Given the description of an element on the screen output the (x, y) to click on. 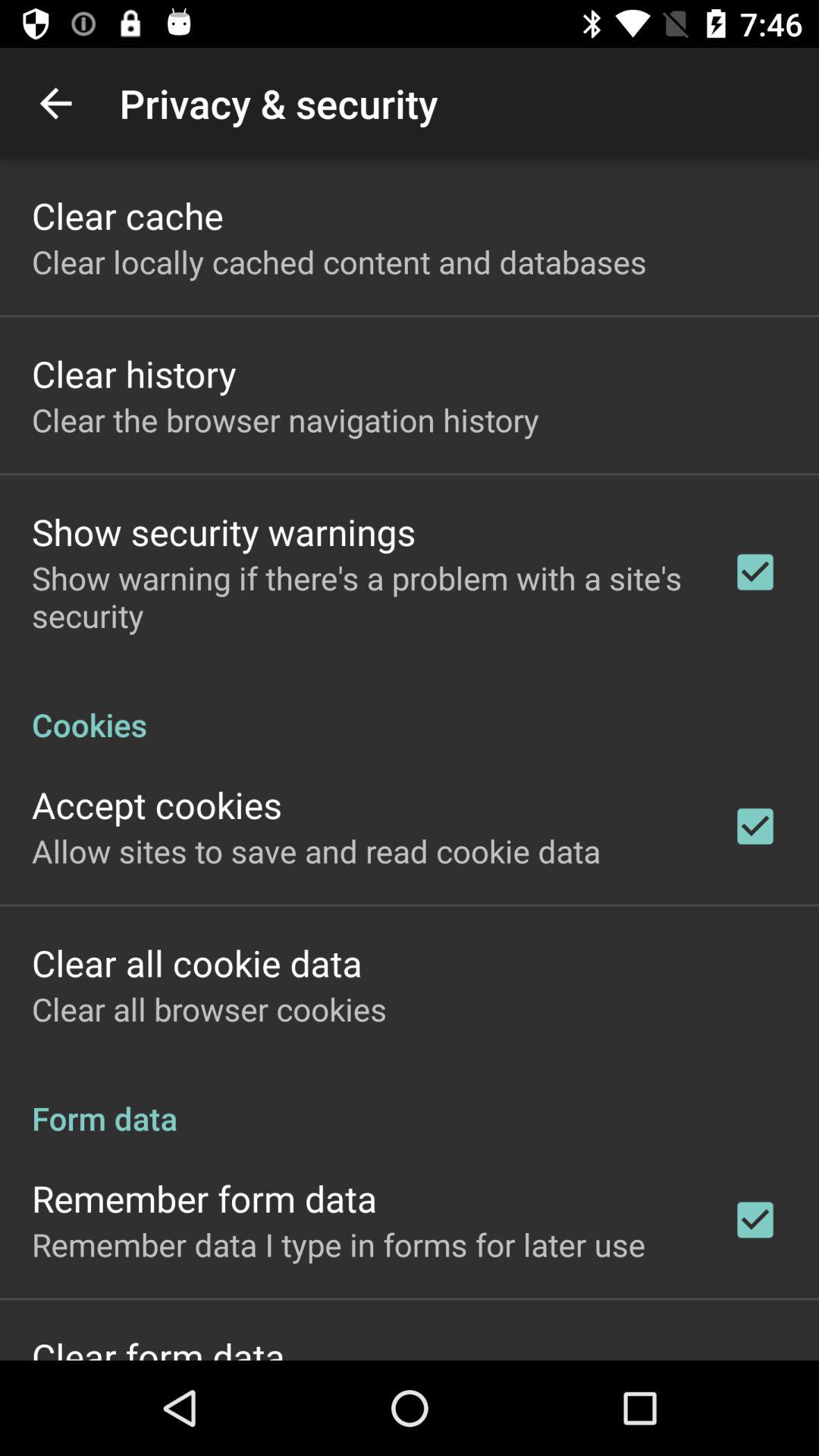
scroll to the clear locally cached app (338, 261)
